Given the description of an element on the screen output the (x, y) to click on. 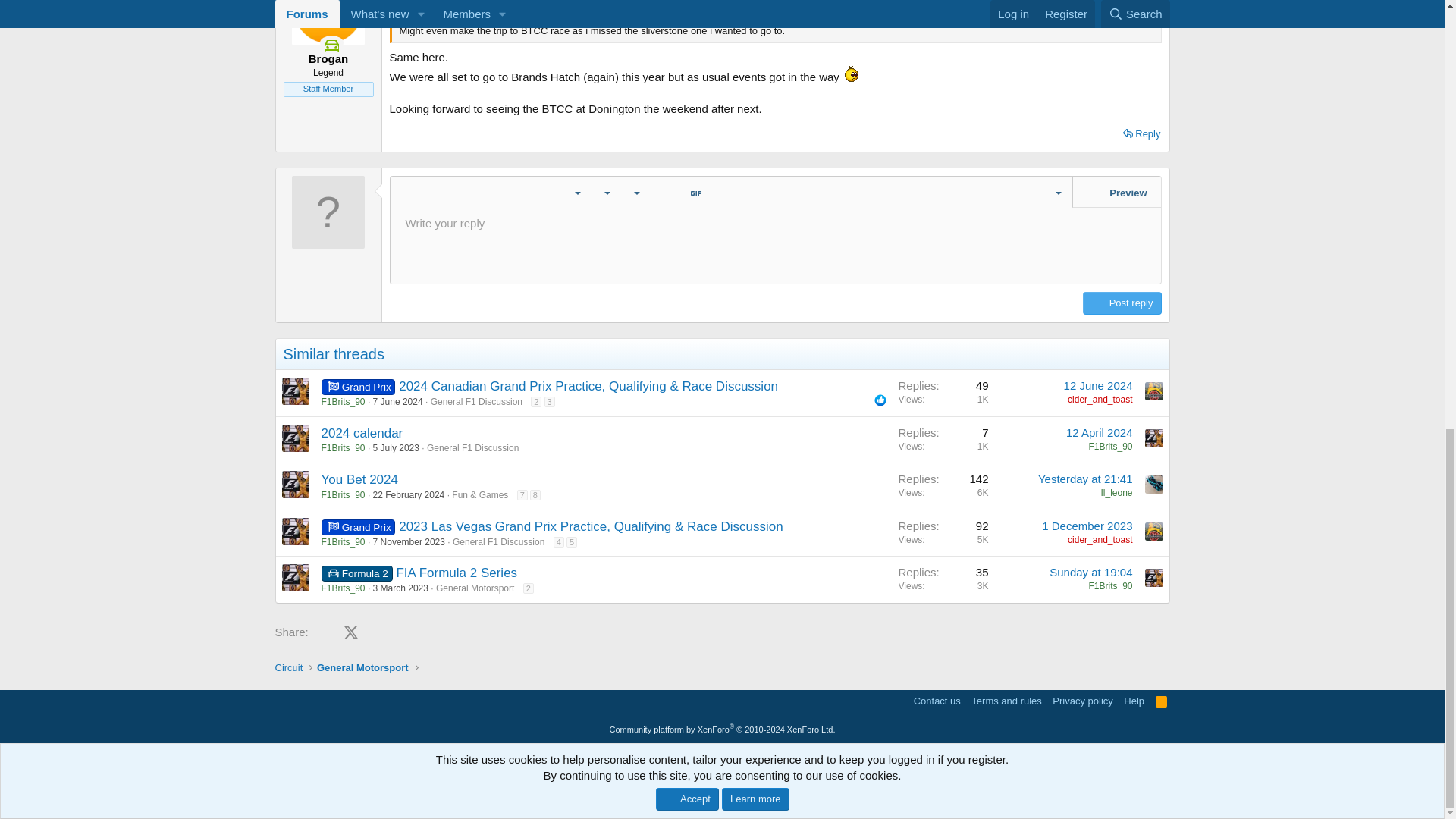
Reply, quoting this message (1141, 134)
Inline spoiler (508, 192)
Disappointed    :disappointed: (851, 74)
